Given the description of an element on the screen output the (x, y) to click on. 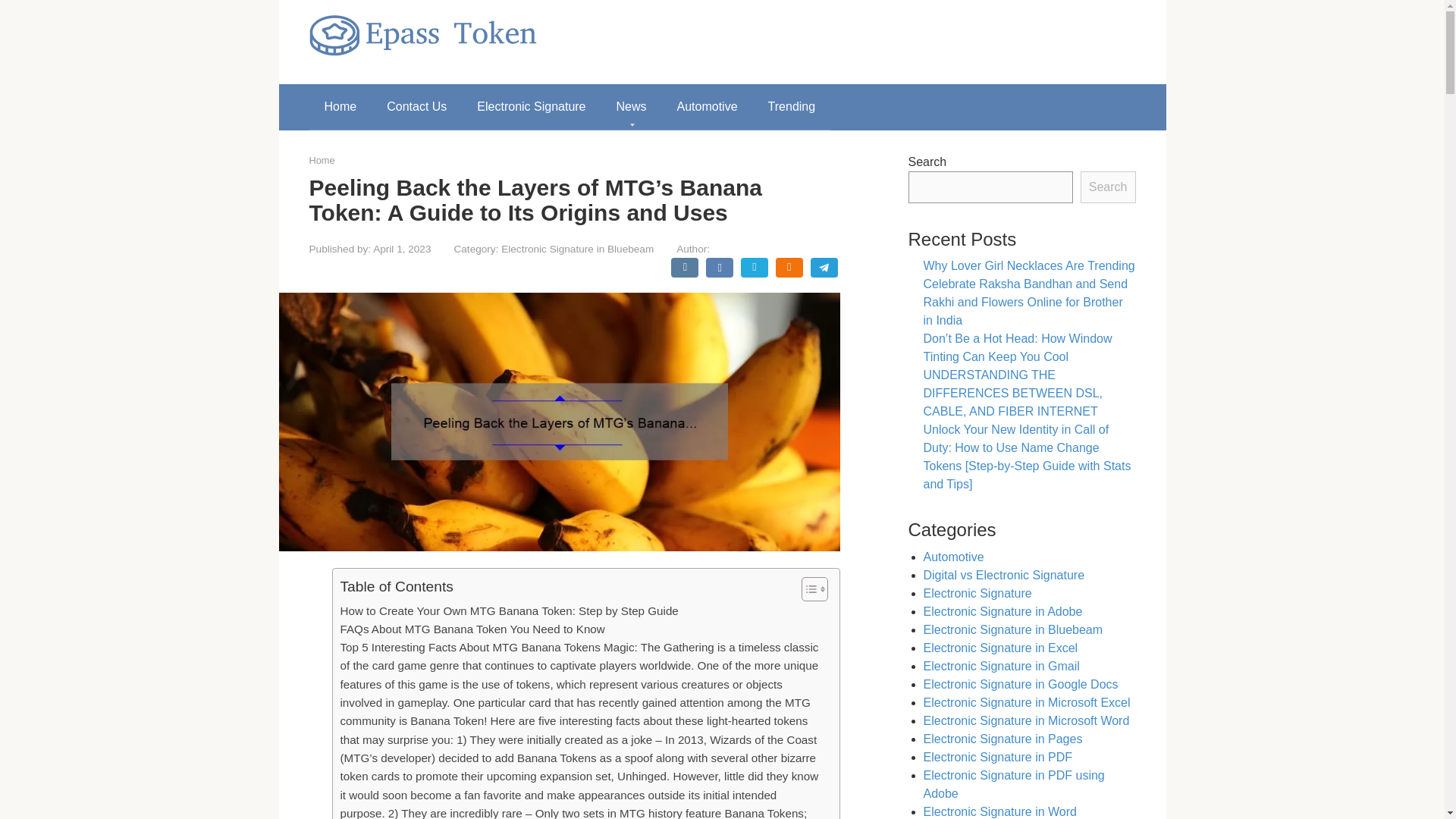
Electronic Signature in Bluebeam (576, 248)
Home (340, 106)
FAQs About MTG Banana Token You Need to Know (471, 628)
FAQs About MTG Banana Token You Need to Know (471, 628)
How to Create Your Own MTG Banana Token: Step by Step Guide (508, 610)
Trending (791, 106)
How to Create Your Own MTG Banana Token: Step by Step Guide (508, 610)
News (631, 106)
Contact Us (416, 106)
Automotive (707, 106)
